Given the description of an element on the screen output the (x, y) to click on. 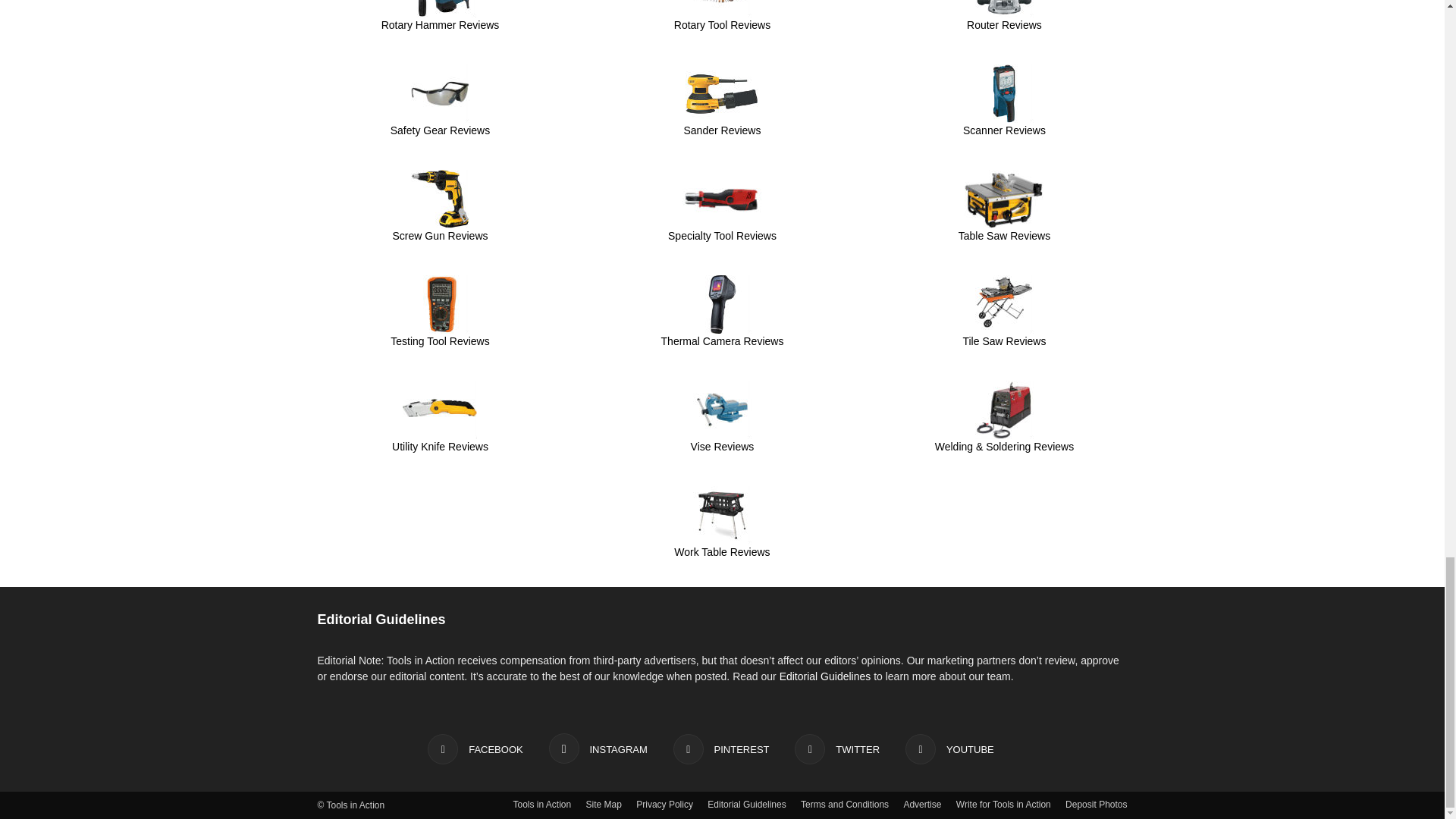
Facebook (475, 748)
Pinterest (721, 748)
Twitter (836, 748)
Instagram (597, 748)
